Given the description of an element on the screen output the (x, y) to click on. 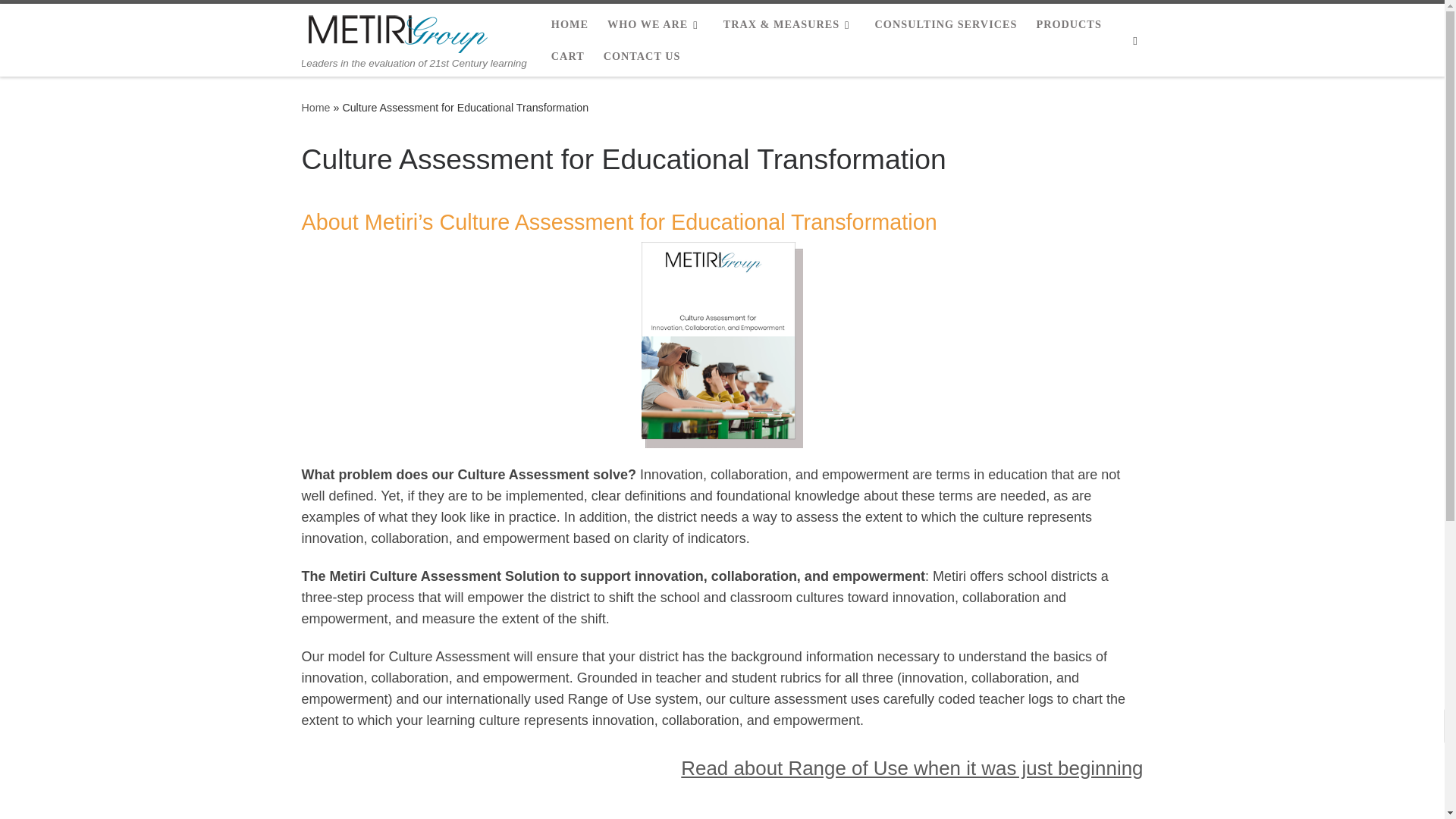
CART (568, 56)
HOME (570, 24)
WHO WE ARE (655, 24)
PRODUCTS (1068, 24)
CONSULTING SERVICES (945, 24)
Skip to content (60, 20)
CONTACT US (641, 56)
